Given the description of an element on the screen output the (x, y) to click on. 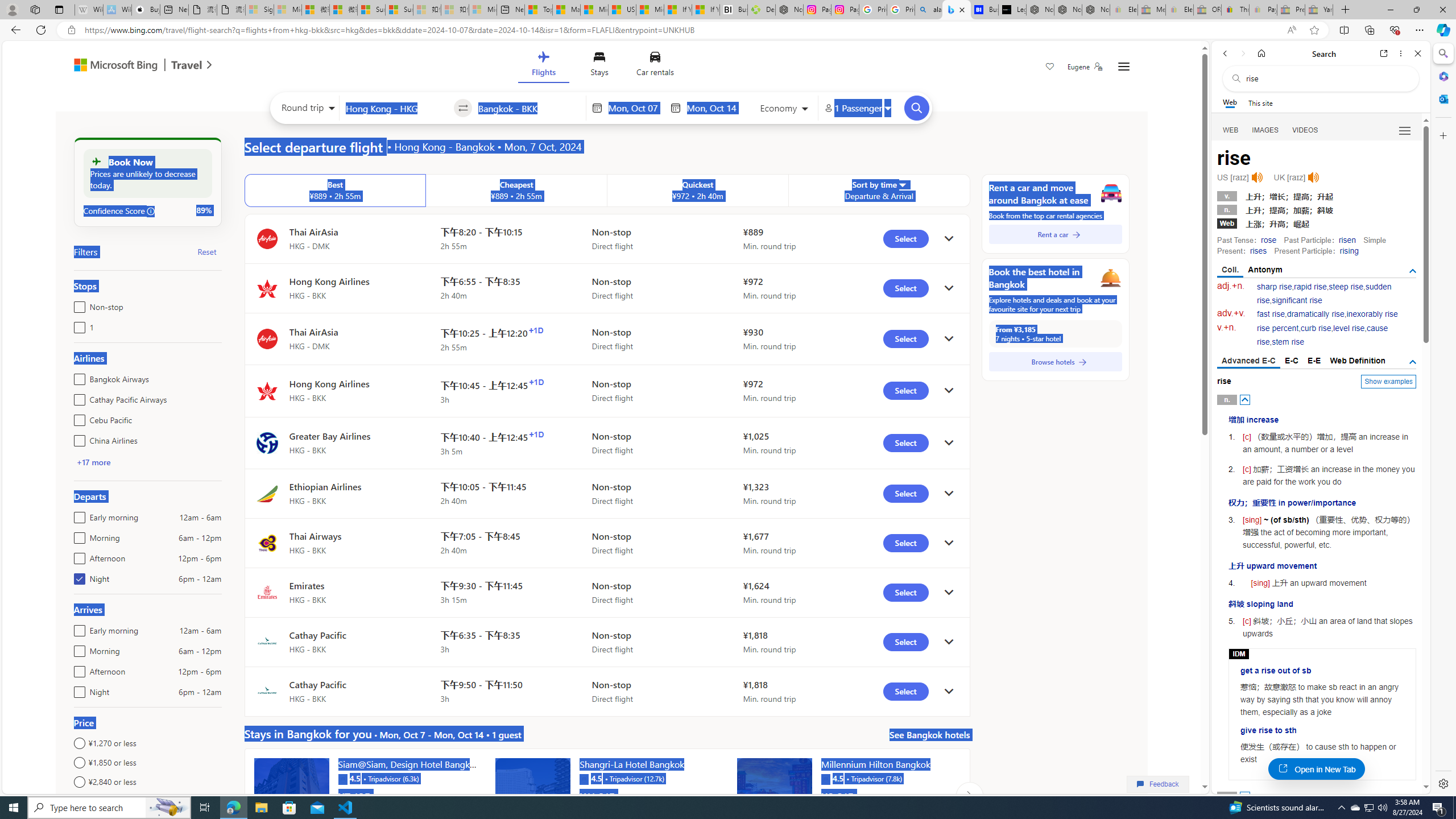
Start Date (636, 107)
Leaving from? (396, 107)
Coll. (1230, 270)
fast rise (1270, 313)
1 Passenger (857, 108)
China Airlines (76, 438)
Class: autosuggest-container full-height no-y-padding (528, 107)
level rise (1349, 328)
Any price (146, 801)
